Given the description of an element on the screen output the (x, y) to click on. 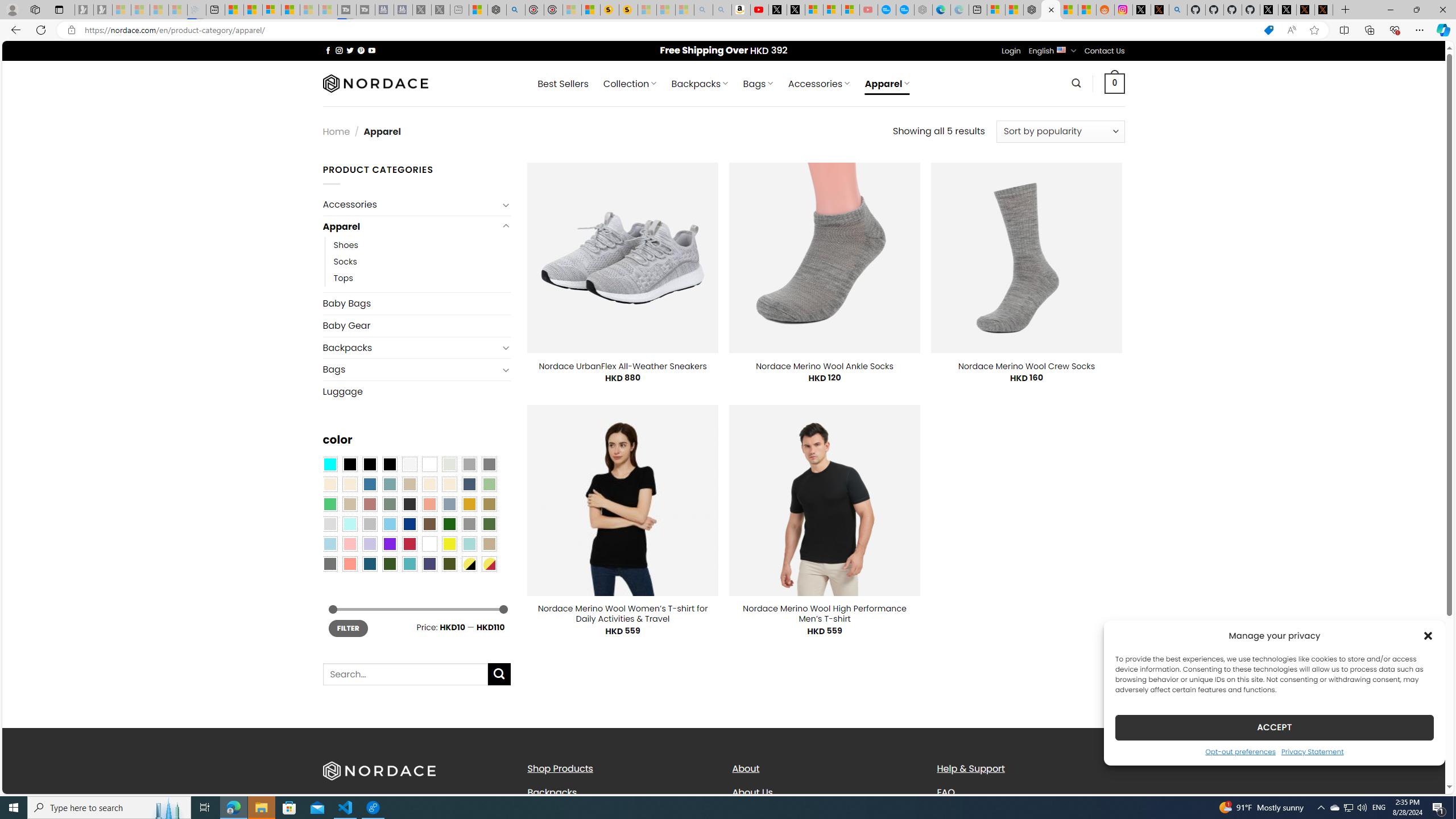
Nordace - Apparel (1050, 9)
  Best Sellers (562, 83)
Black (369, 464)
Shop order (1060, 131)
Go to top (1421, 777)
Apparel (410, 226)
Overview (271, 9)
Beige-Brown (349, 483)
